Given the description of an element on the screen output the (x, y) to click on. 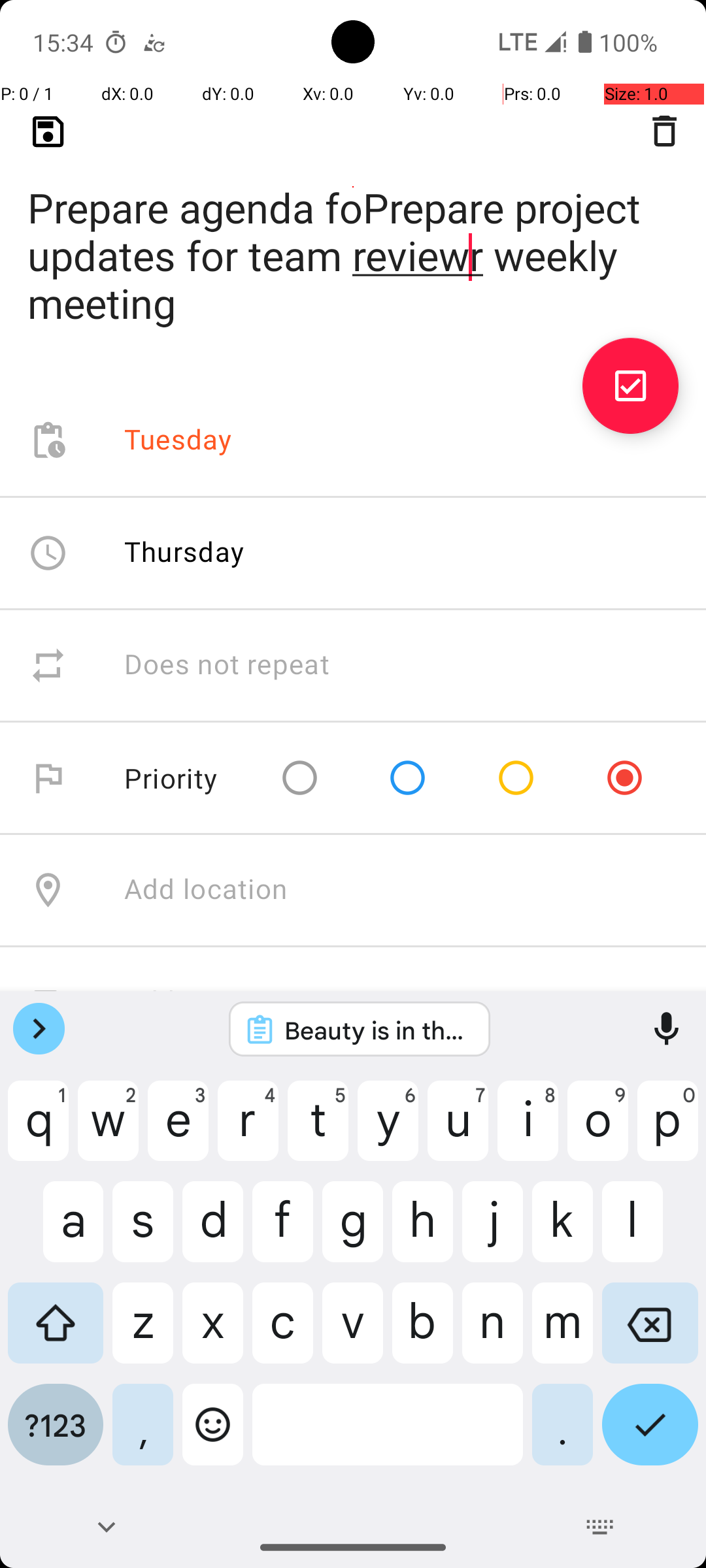
Prepare agenda foPrepare project updates for team reviewr weekly meeting Element type: android.widget.EditText (353, 234)
